Given the description of an element on the screen output the (x, y) to click on. 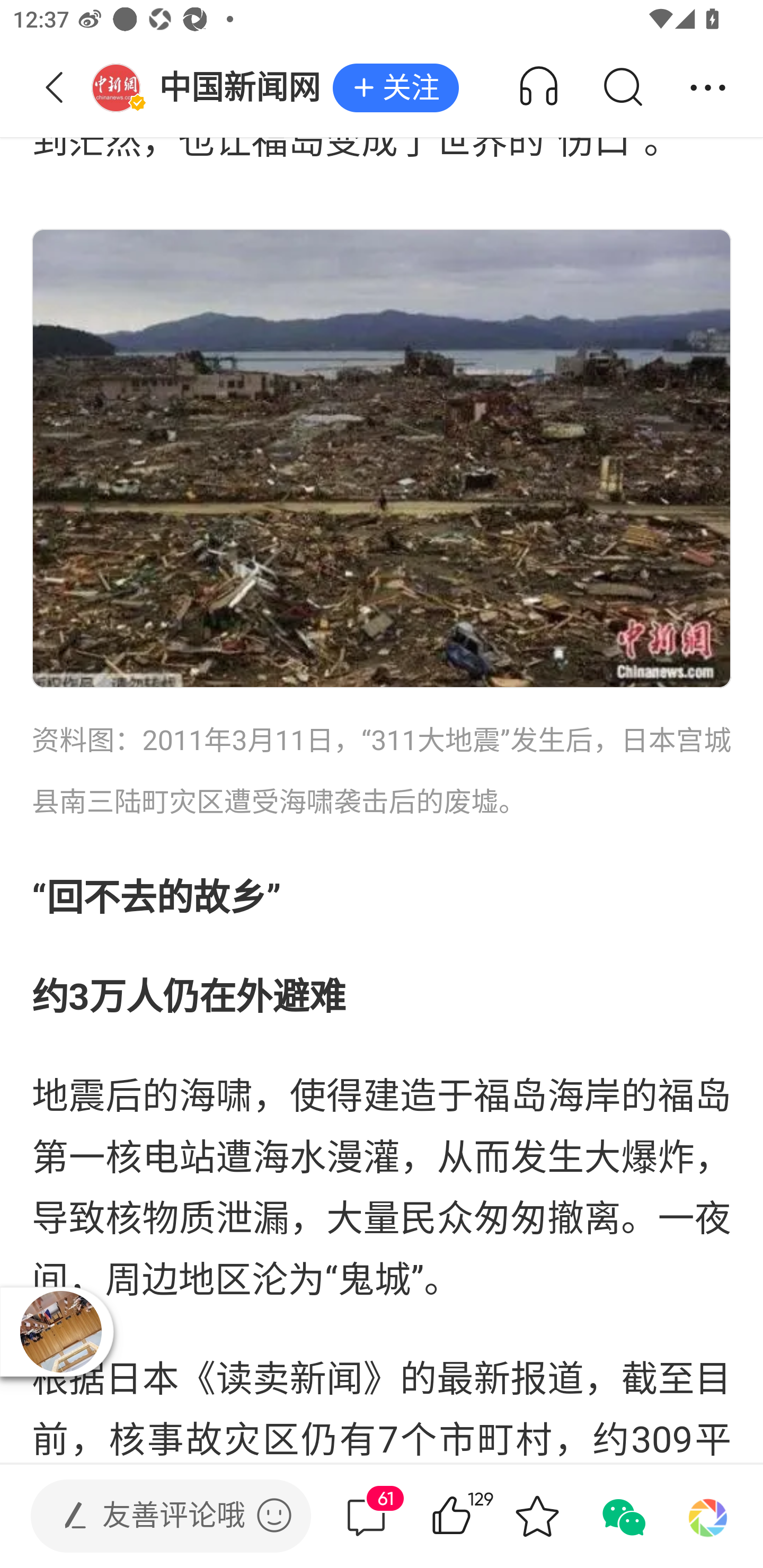
中国新闻网 (211, 87)
搜索  (622, 87)
分享  (707, 87)
 返回 (54, 87)
 关注 (395, 88)
新闻图片 (381, 458)
播放器 (60, 1331)
发表评论  友善评论哦 发表评论  (155, 1516)
61评论  61 评论 (365, 1516)
129赞 (476, 1516)
收藏  (536, 1516)
分享到微信  (622, 1516)
分享到朋友圈 (707, 1516)
 (274, 1515)
